Given the description of an element on the screen output the (x, y) to click on. 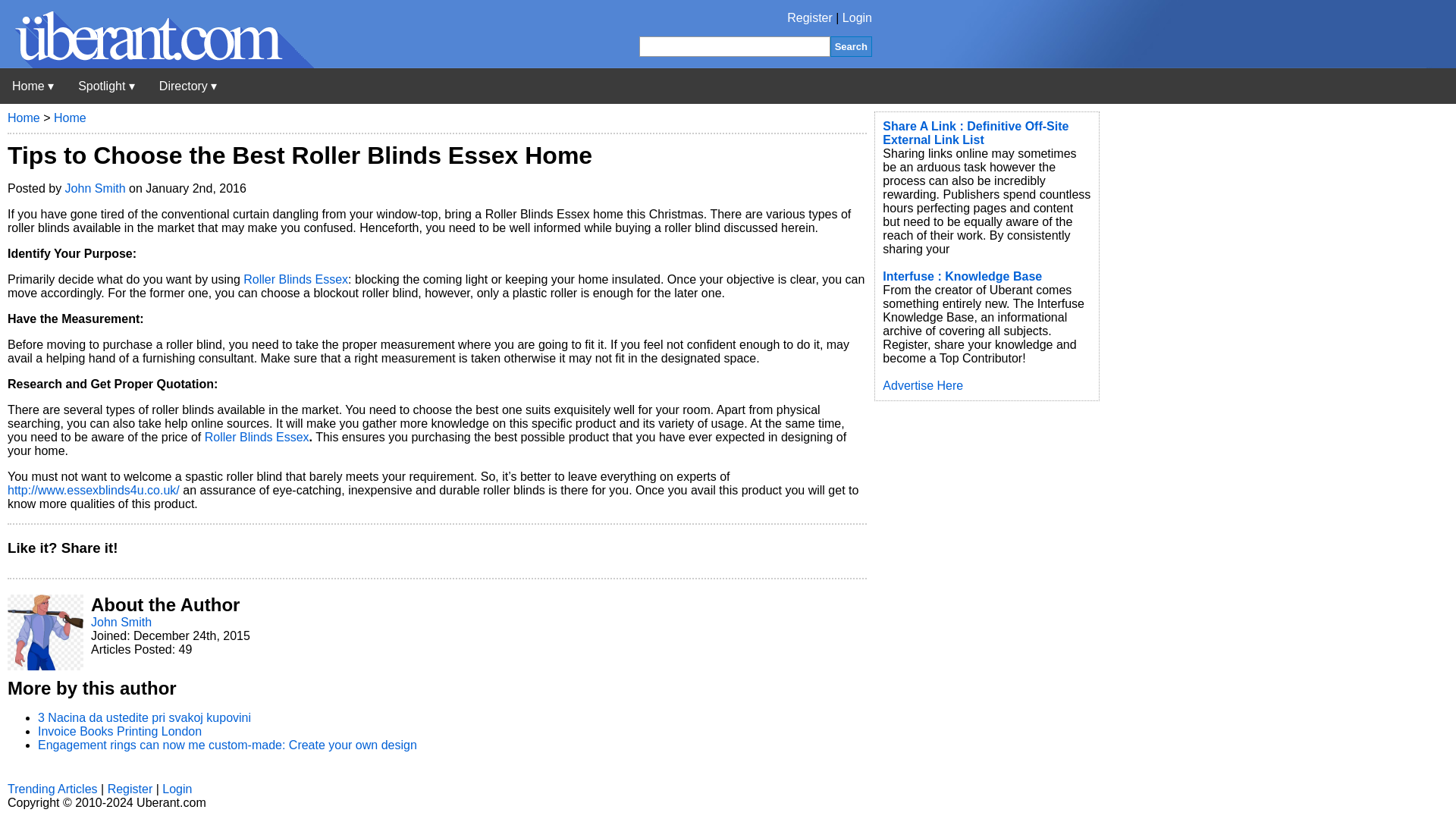
Search (850, 46)
Register (809, 17)
Uberant (157, 63)
Search (850, 46)
Uberant (32, 85)
Login (857, 17)
